Given the description of an element on the screen output the (x, y) to click on. 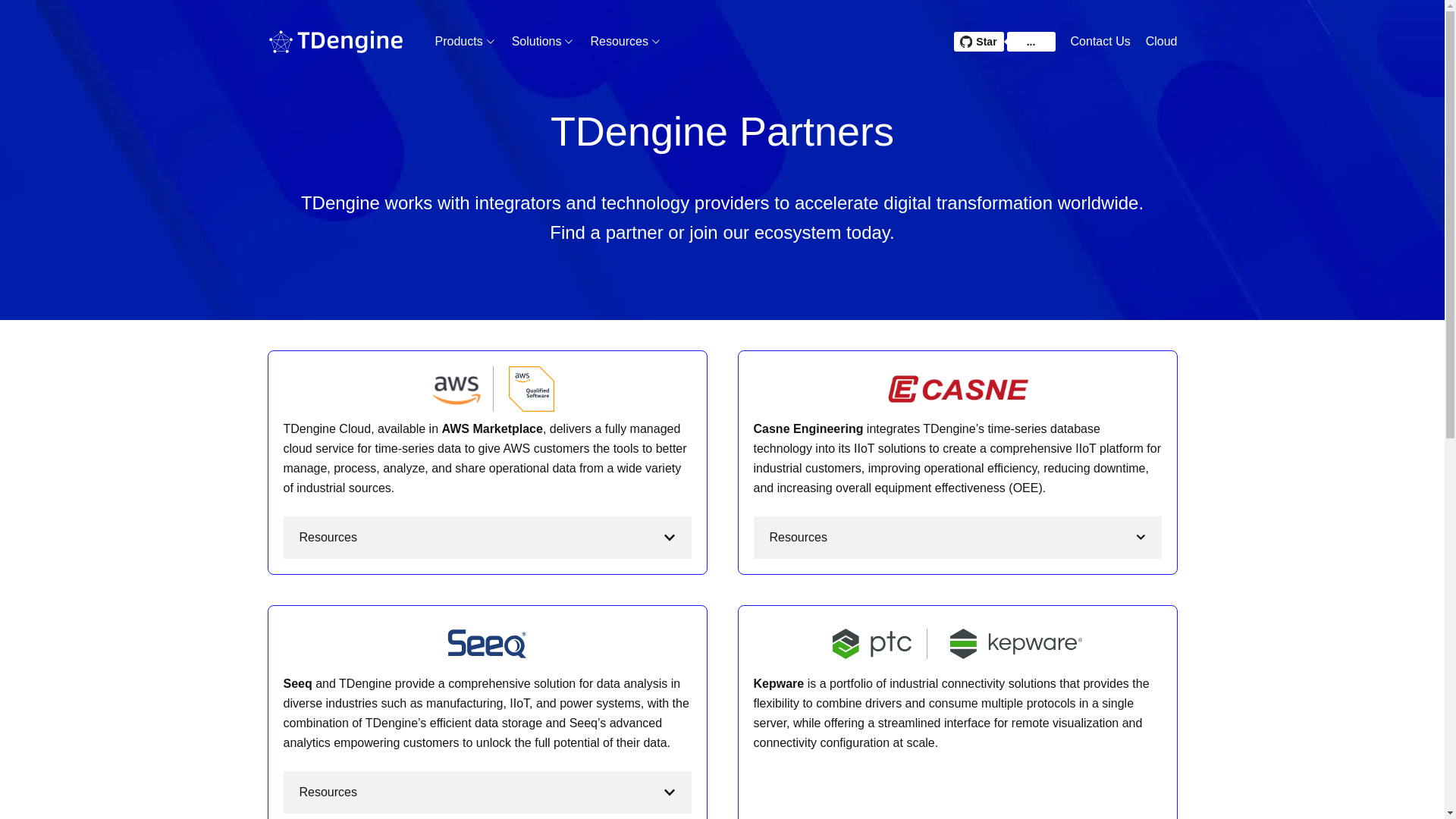
ptc-svg-new (871, 643)
Solutions (542, 41)
Products (460, 41)
kepware-svg-new (1015, 643)
aws-qualified (531, 388)
